Given the description of an element on the screen output the (x, y) to click on. 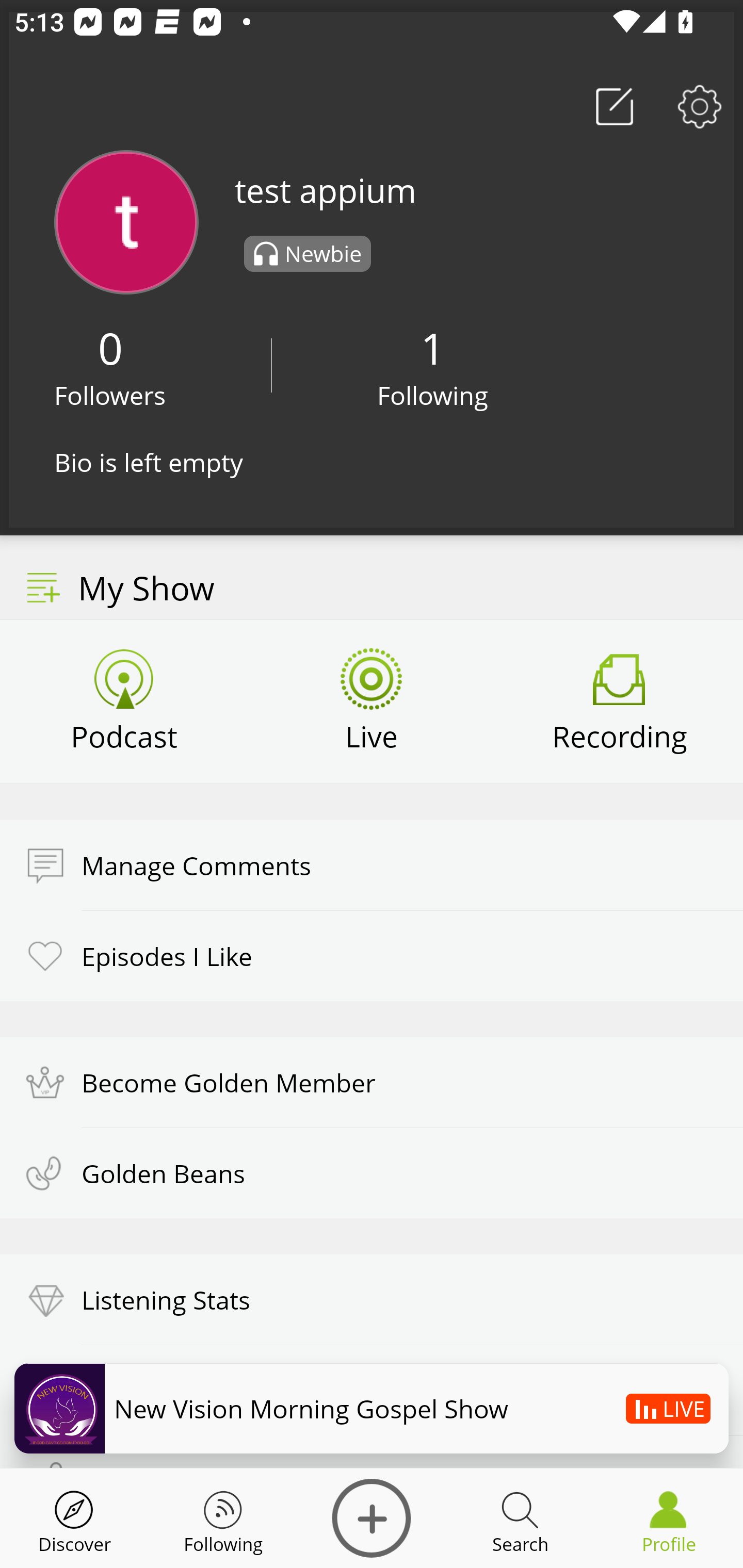
Settings (699, 106)
0 (110, 347)
1 (432, 347)
Followers (110, 394)
Following (432, 394)
Manage Comments (371, 865)
Episodes I Like (371, 955)
Become Golden Member (371, 1082)
Golden Beans (371, 1172)
Listening Stats (371, 1299)
Podbean New Vision Morning Gospel Show LIVE (371, 1407)
Discover (74, 1518)
Discover Following (222, 1518)
Discover (371, 1518)
Discover Search (519, 1518)
